Given the description of an element on the screen output the (x, y) to click on. 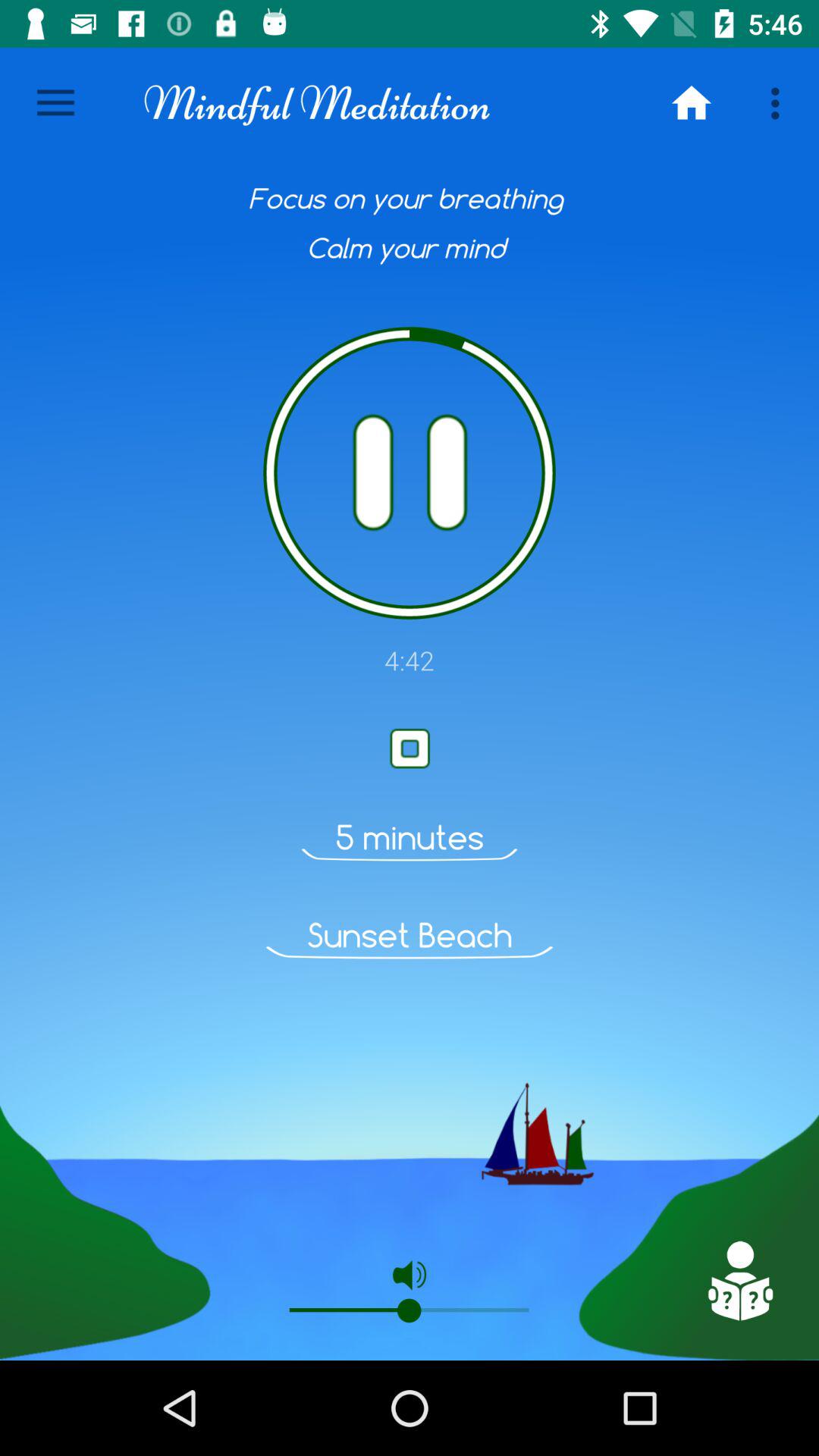
turn on the icon to the right of the mindful meditation item (691, 103)
